Given the description of an element on the screen output the (x, y) to click on. 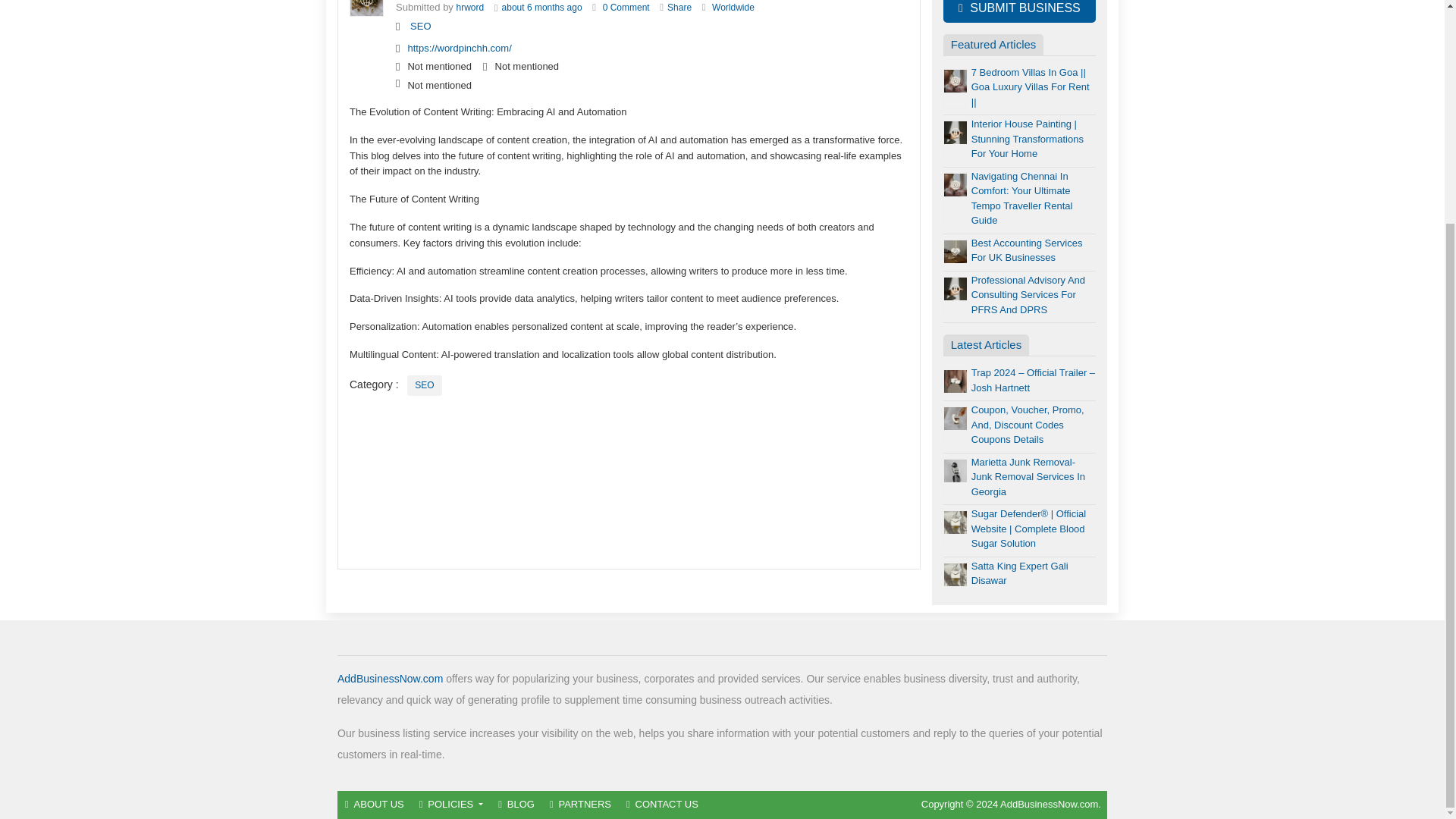
Worldwide (732, 7)
about 6 months ago (542, 7)
Wordpinchh (470, 7)
SUBMIT BUSINESS (1019, 11)
about 6 months ago (542, 7)
0 Comment (625, 7)
Share (678, 7)
SEO (420, 25)
hrword (470, 7)
Worldwide (732, 7)
SEO (424, 385)
SEO (424, 385)
Share (678, 7)
SEO (420, 25)
